Given the description of an element on the screen output the (x, y) to click on. 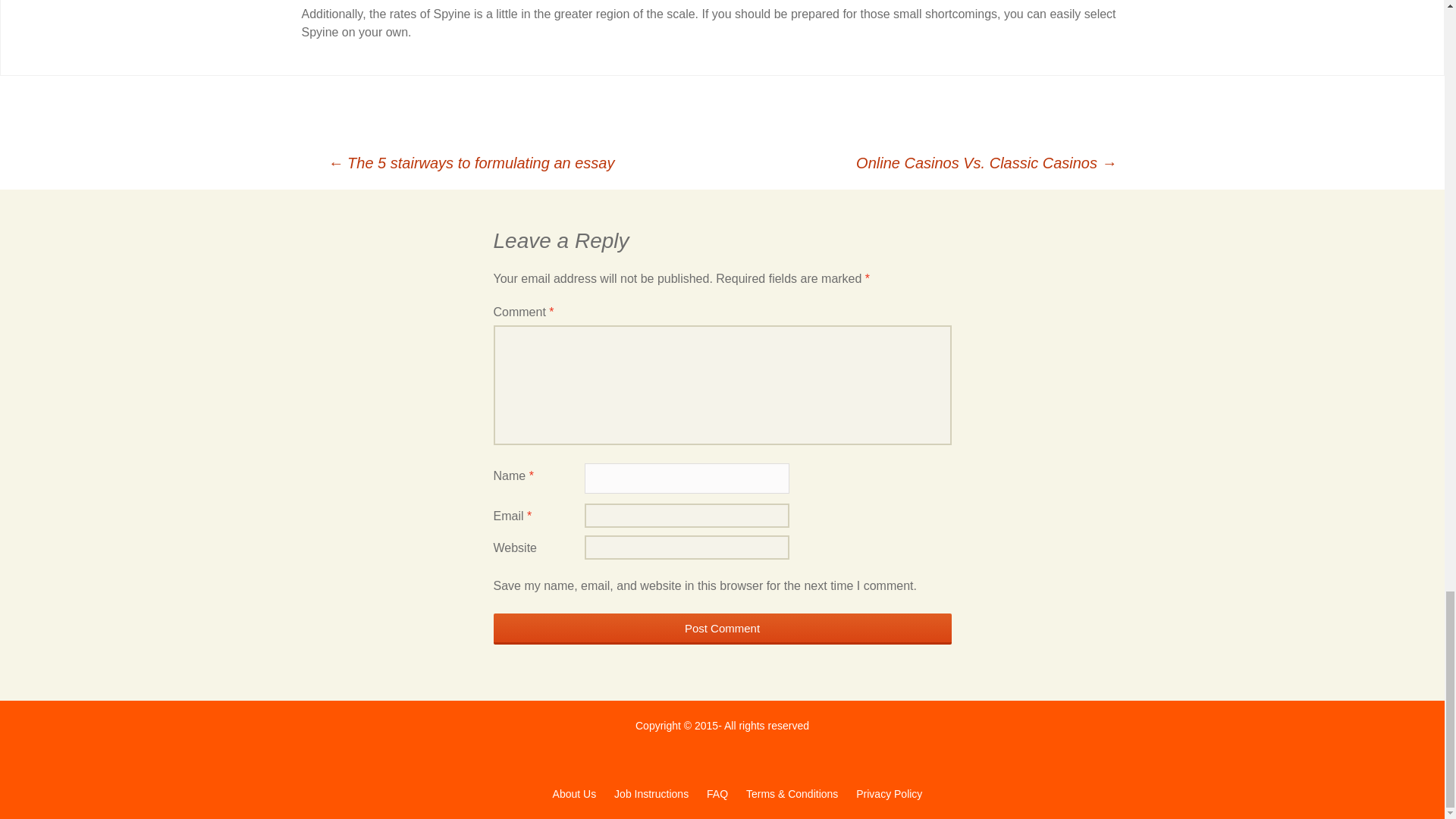
About Us (574, 793)
Post Comment (721, 628)
Semantic Personal Publishing Platform (574, 793)
Post Comment (721, 628)
Semantic Personal Publishing Platform (791, 793)
Job Instructions (651, 793)
FAQ (716, 793)
Semantic Personal Publishing Platform (889, 793)
Privacy Policy (889, 793)
